Given the description of an element on the screen output the (x, y) to click on. 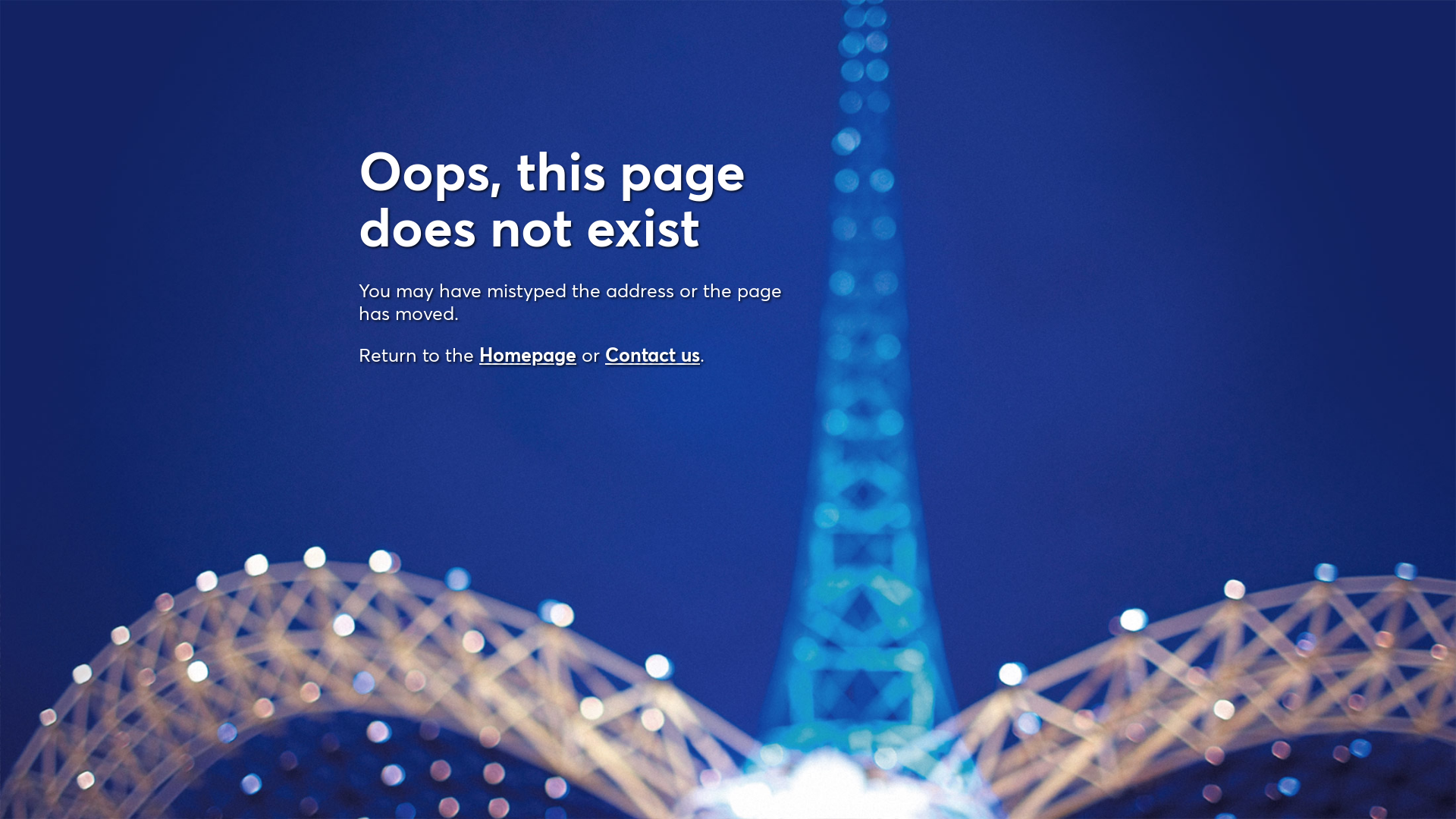
Homepage Element type: text (527, 354)
Contact us Element type: text (652, 354)
